Given the description of an element on the screen output the (x, y) to click on. 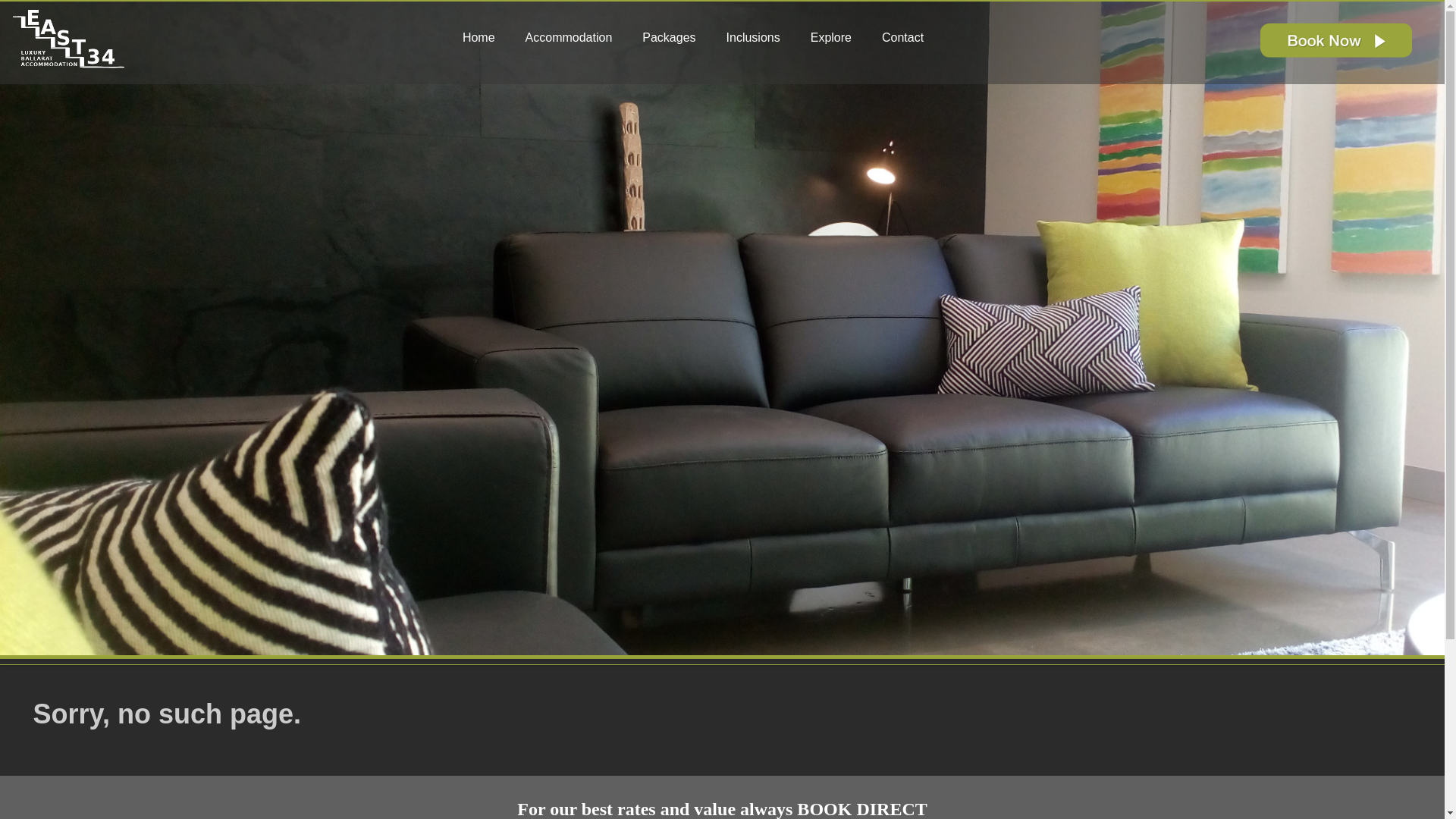
Accommodation Element type: text (574, 37)
Inclusions Element type: text (759, 37)
Home Element type: text (484, 37)
Explore Element type: text (836, 37)
Contact Element type: text (908, 37)
Packages Element type: text (674, 37)
